Given the description of an element on the screen output the (x, y) to click on. 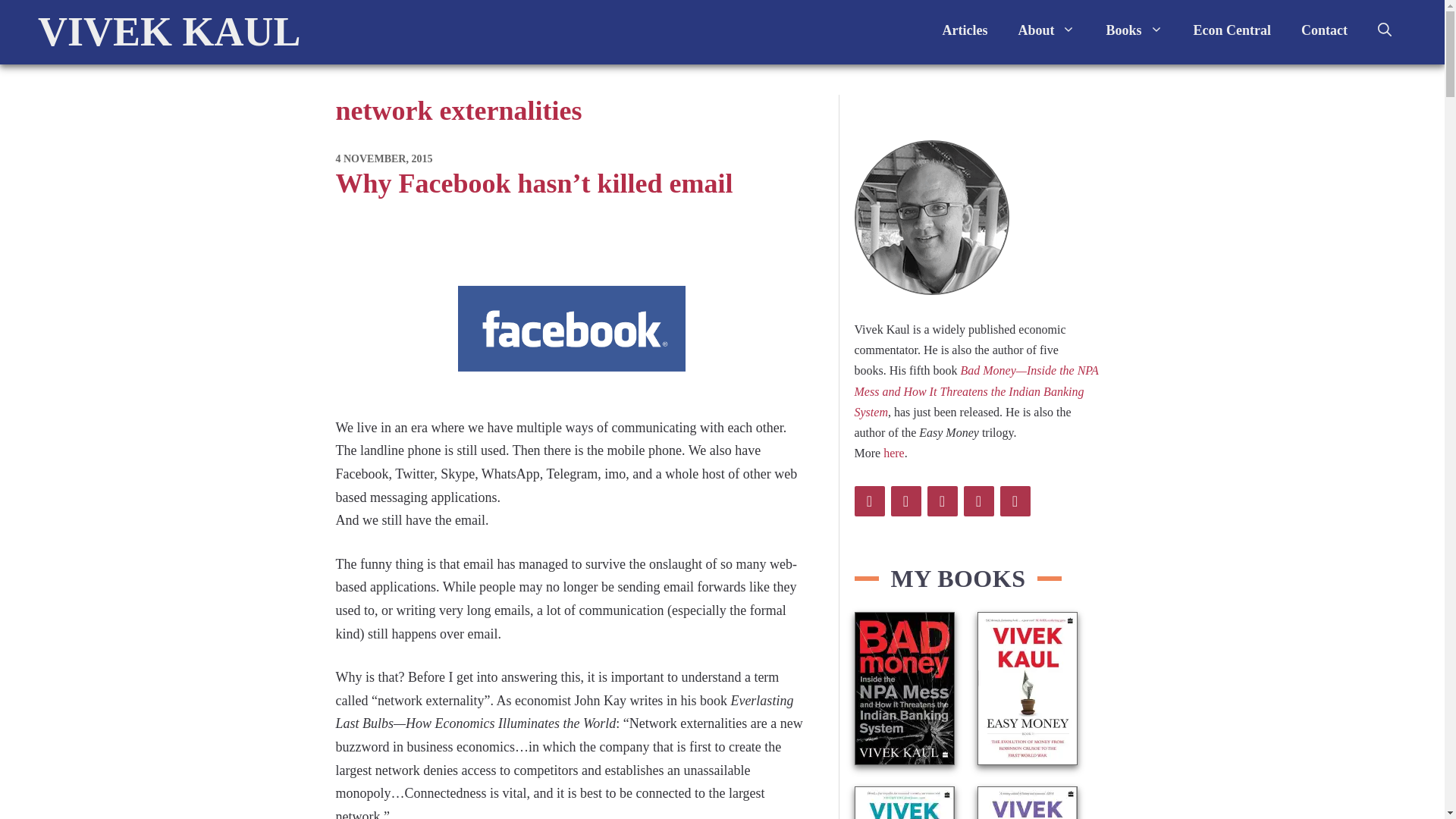
Contact (1323, 30)
About (1046, 30)
Books written by Vivek Kaul (1133, 30)
Books (1133, 30)
Get in touch  (1323, 30)
VIVEK KAUL (169, 31)
Articles (964, 30)
Econ Central (1232, 30)
